Given the description of an element on the screen output the (x, y) to click on. 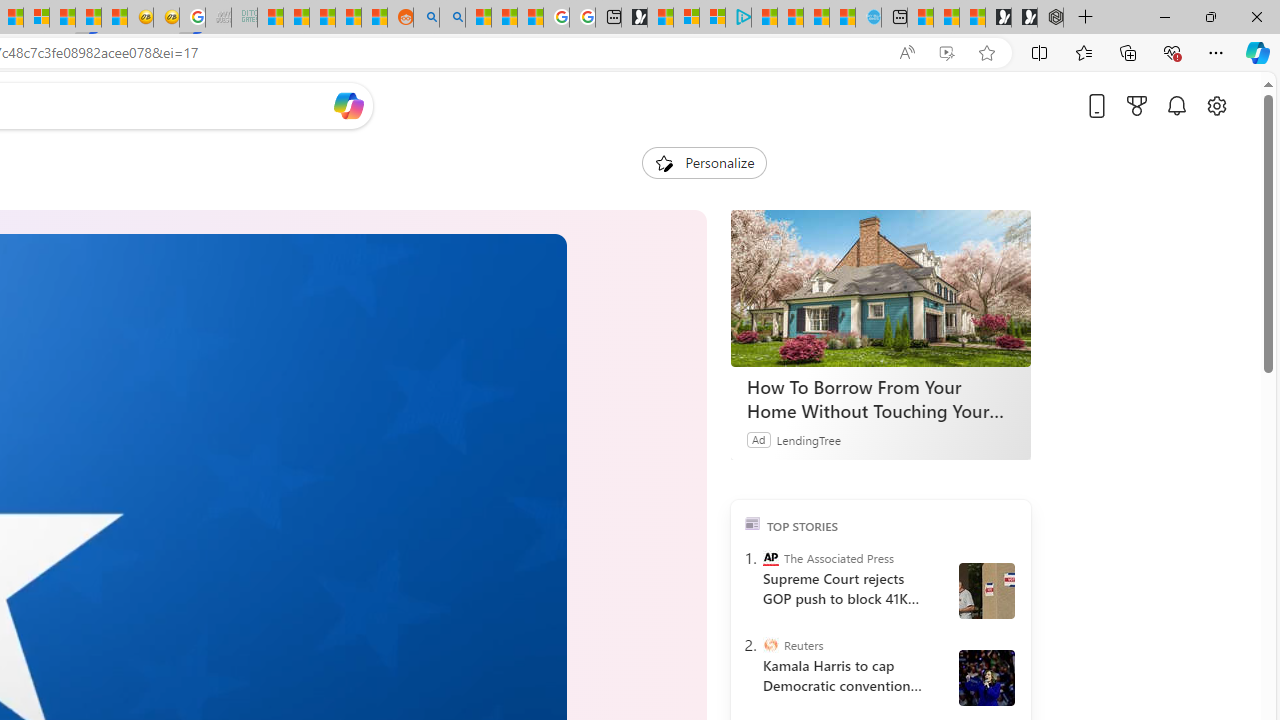
LendingTree (807, 439)
